Given the description of an element on the screen output the (x, y) to click on. 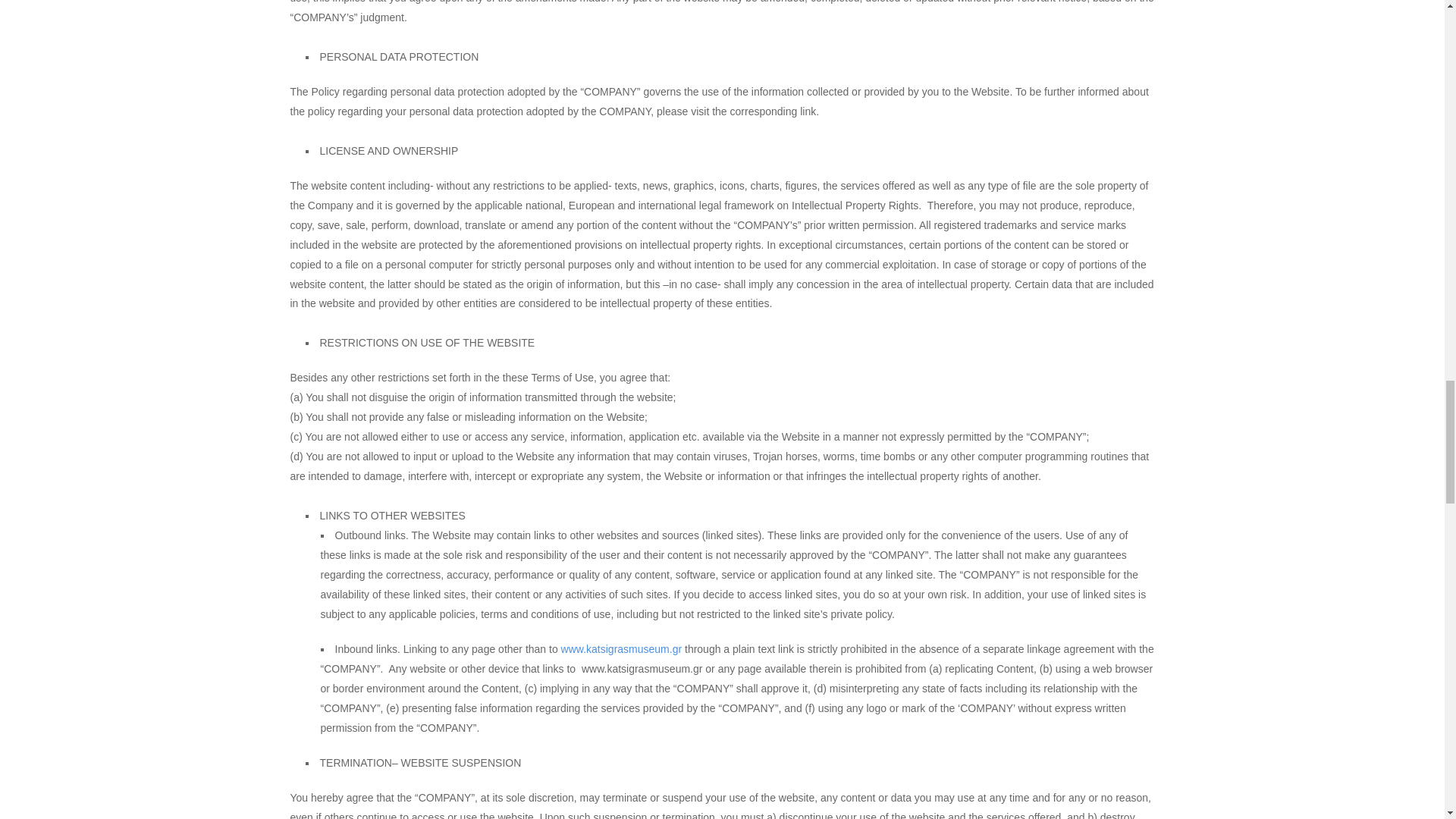
www.katsigrasmuseum.gr (621, 648)
